Given the description of an element on the screen output the (x, y) to click on. 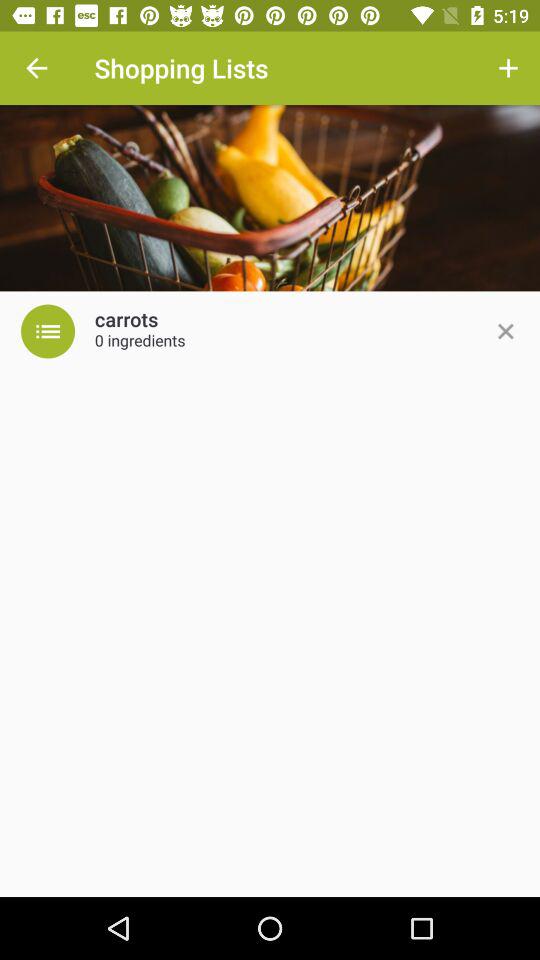
choose the item at the top right corner (508, 67)
